Given the description of an element on the screen output the (x, y) to click on. 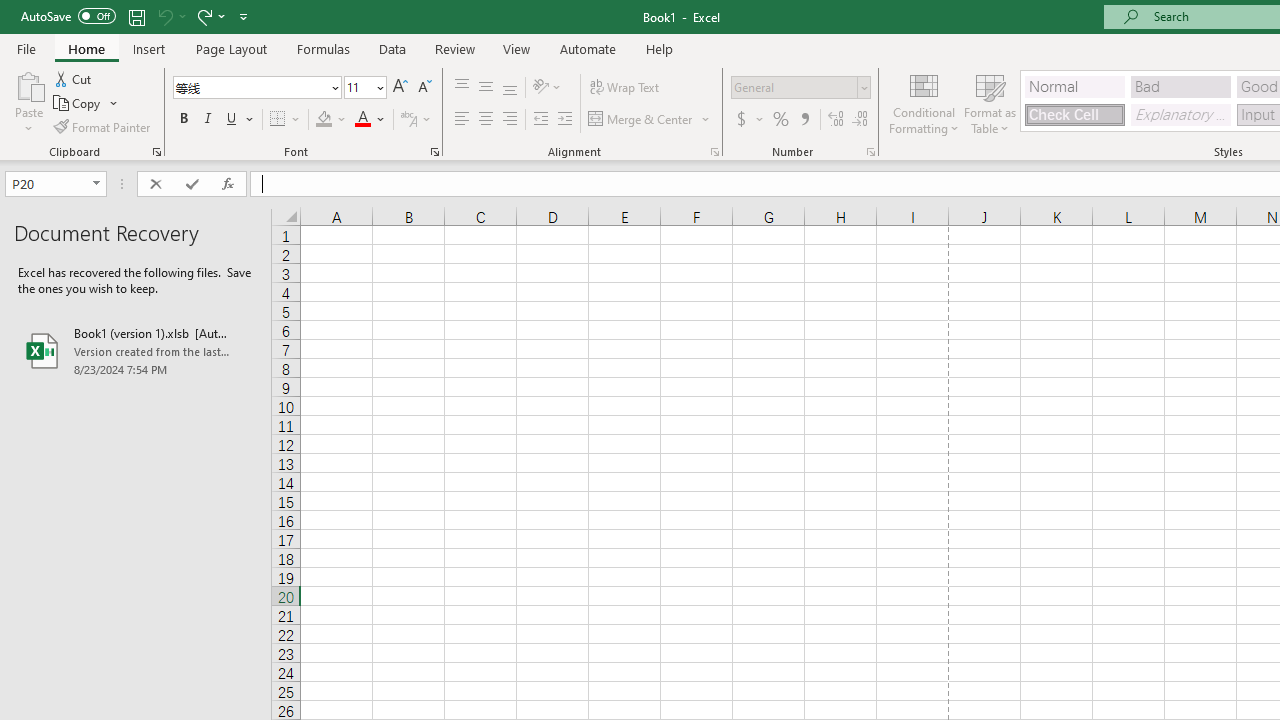
Bottom Align (509, 87)
Underline (239, 119)
Font (256, 87)
Italic (207, 119)
